Given the description of an element on the screen output the (x, y) to click on. 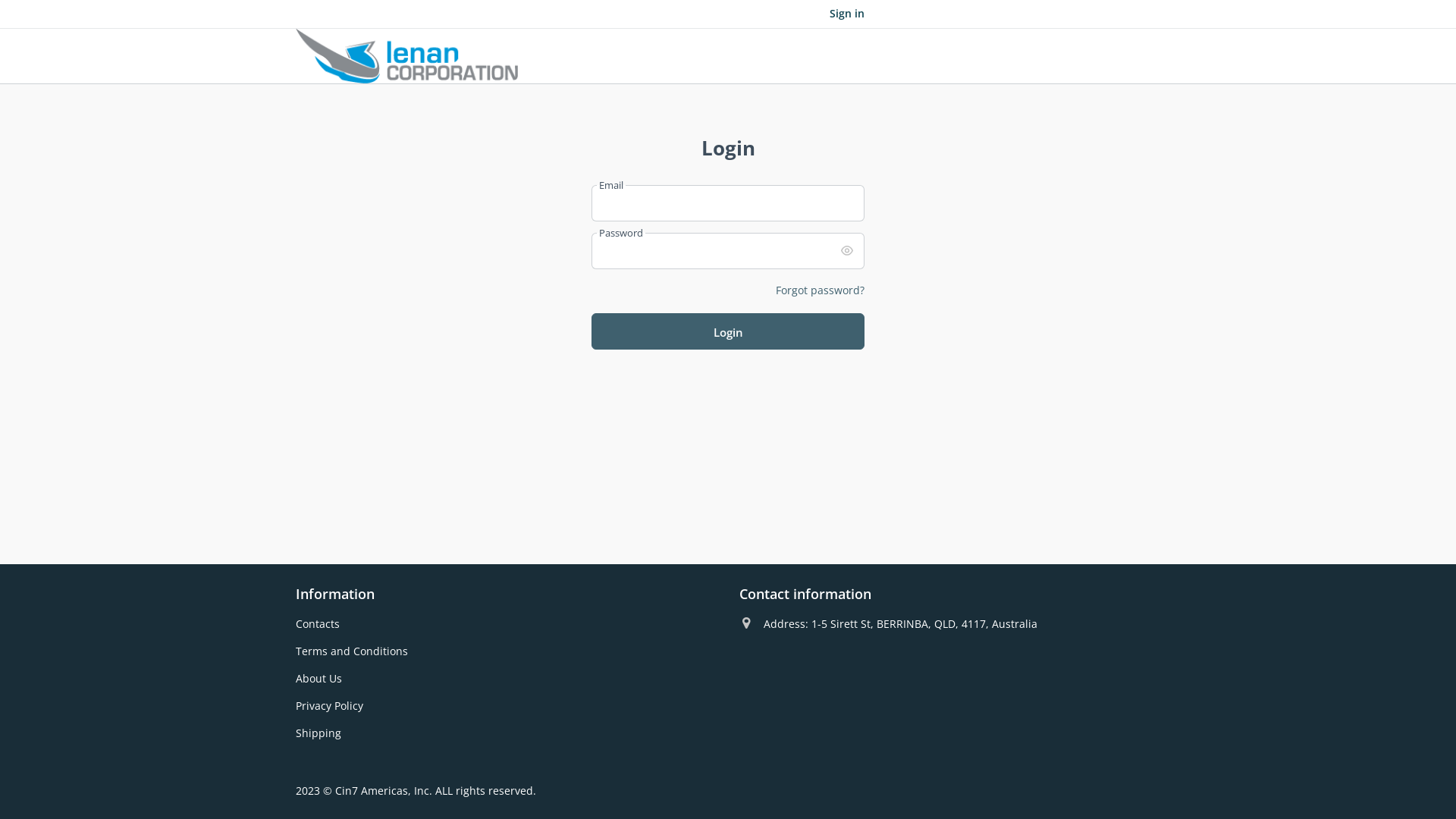
About Us Element type: text (318, 678)
Login Element type: text (727, 331)
Privacy Policy Element type: text (329, 705)
Sign in Element type: text (846, 13)
Terms and Conditions Element type: text (351, 650)
Shipping Element type: text (318, 732)
Forgot password? Element type: text (819, 289)
Contacts Element type: text (317, 623)
